Given the description of an element on the screen output the (x, y) to click on. 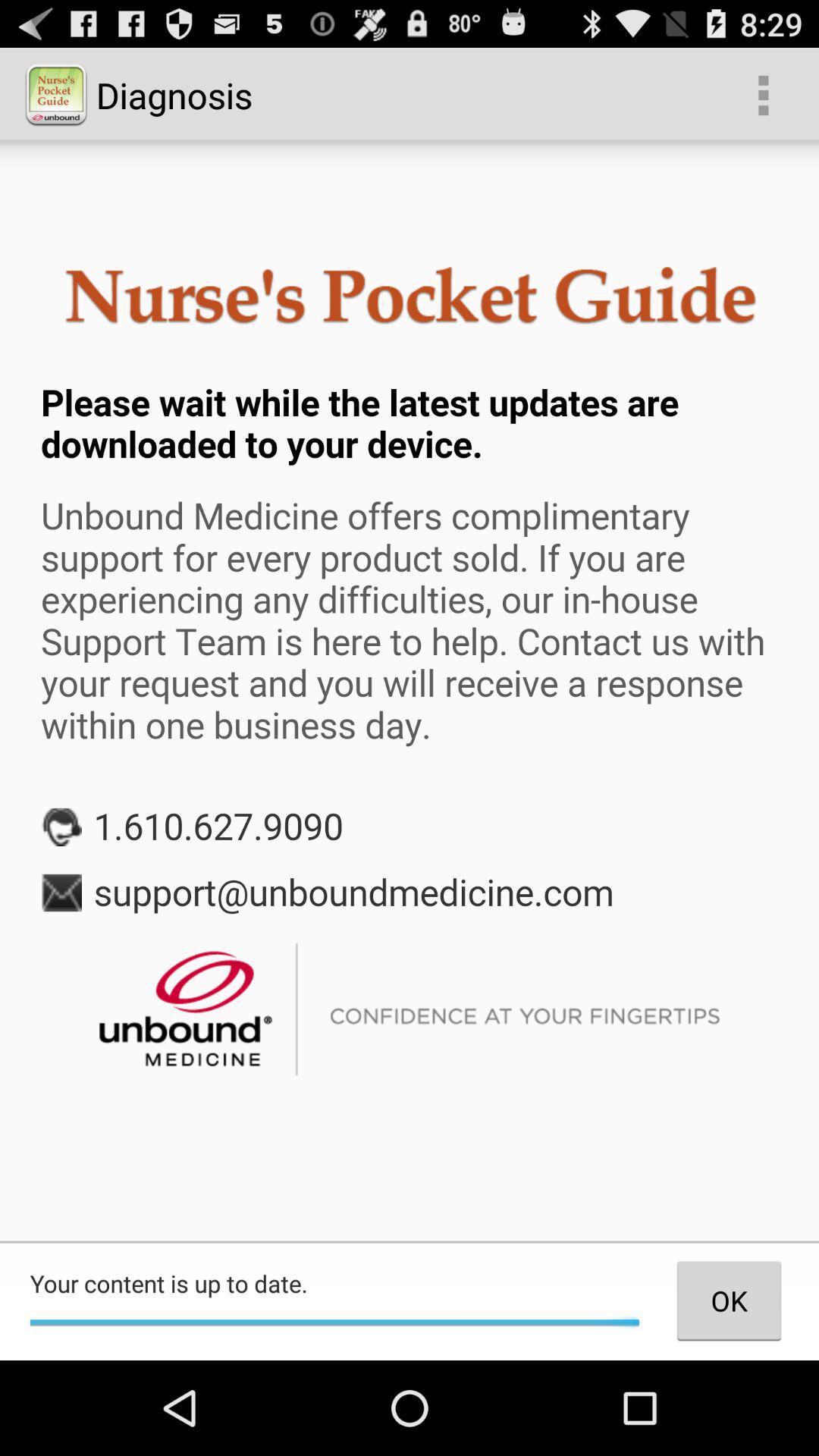
share the article (409, 692)
